Given the description of an element on the screen output the (x, y) to click on. 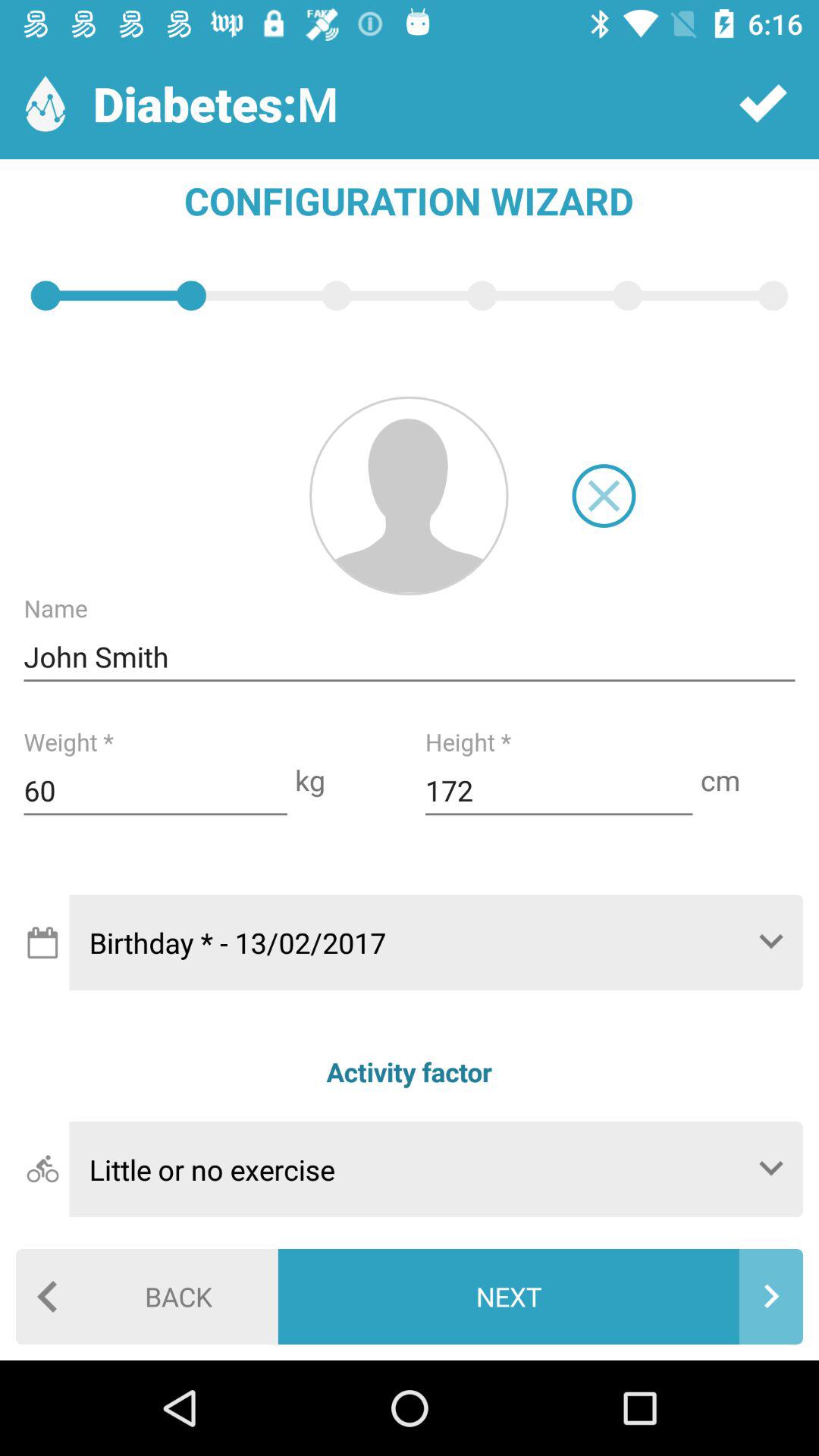
cancel image (603, 495)
